Given the description of an element on the screen output the (x, y) to click on. 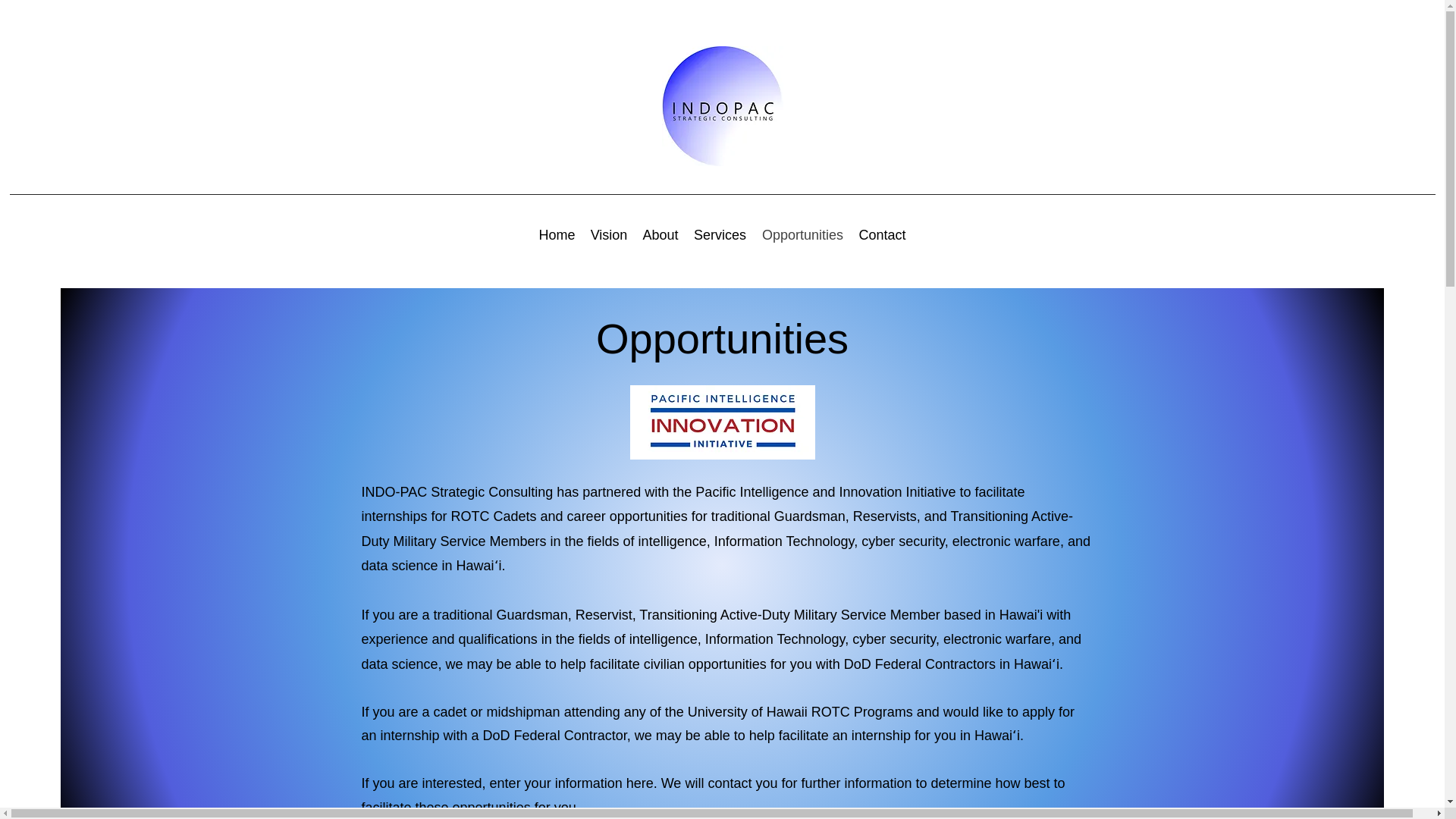
About (659, 234)
Contact (881, 234)
Vision (608, 234)
P3i logo.jpg (720, 421)
Opportunities (802, 234)
Services (719, 234)
Home (556, 234)
